Given the description of an element on the screen output the (x, y) to click on. 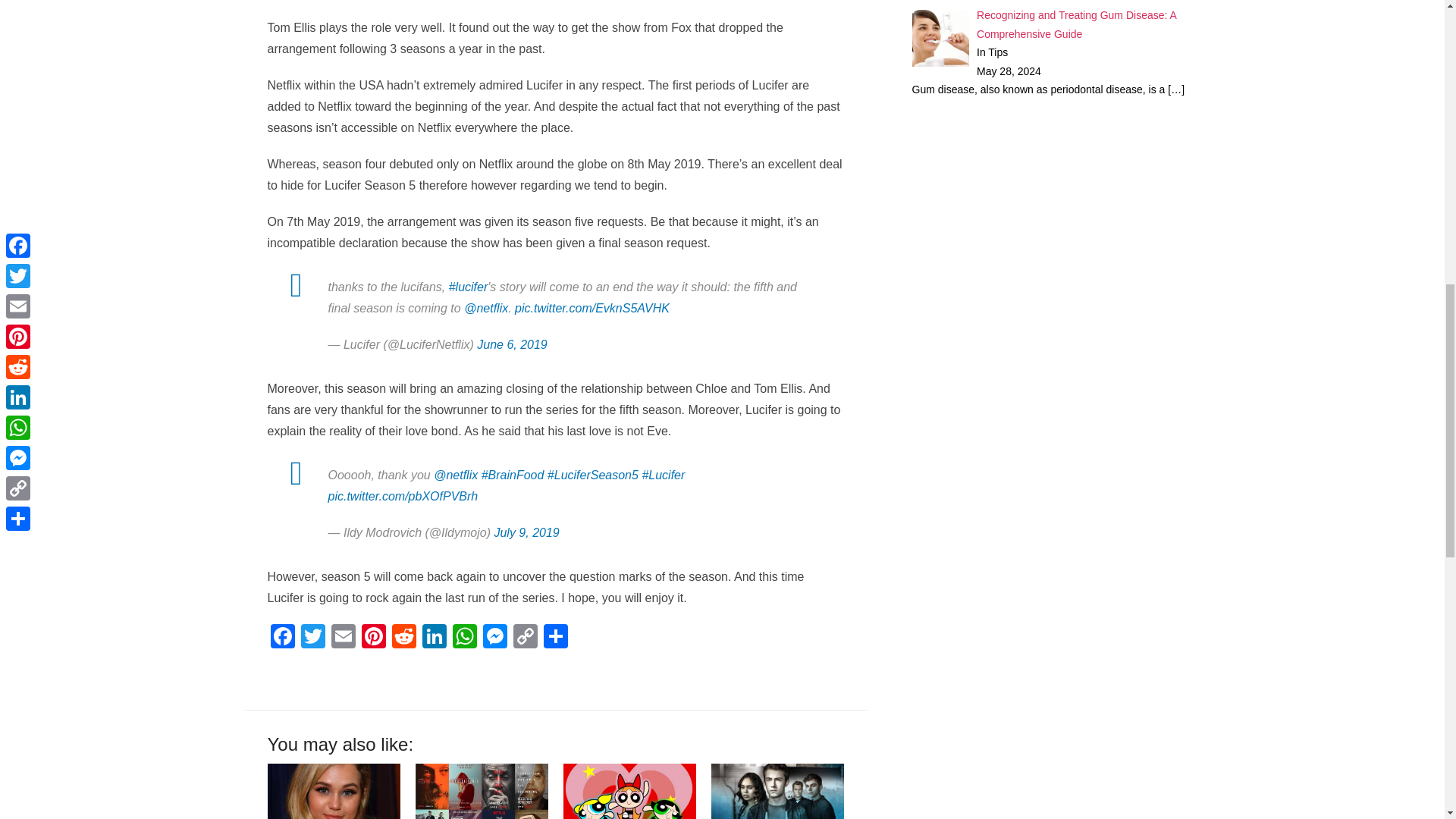
Facebook (281, 637)
Twitter (312, 637)
LinkedIn (433, 637)
WhatsApp (463, 637)
Email (342, 637)
Reddit (403, 637)
Pinterest (373, 637)
Copy Link (524, 637)
Messenger (494, 637)
